Given the description of an element on the screen output the (x, y) to click on. 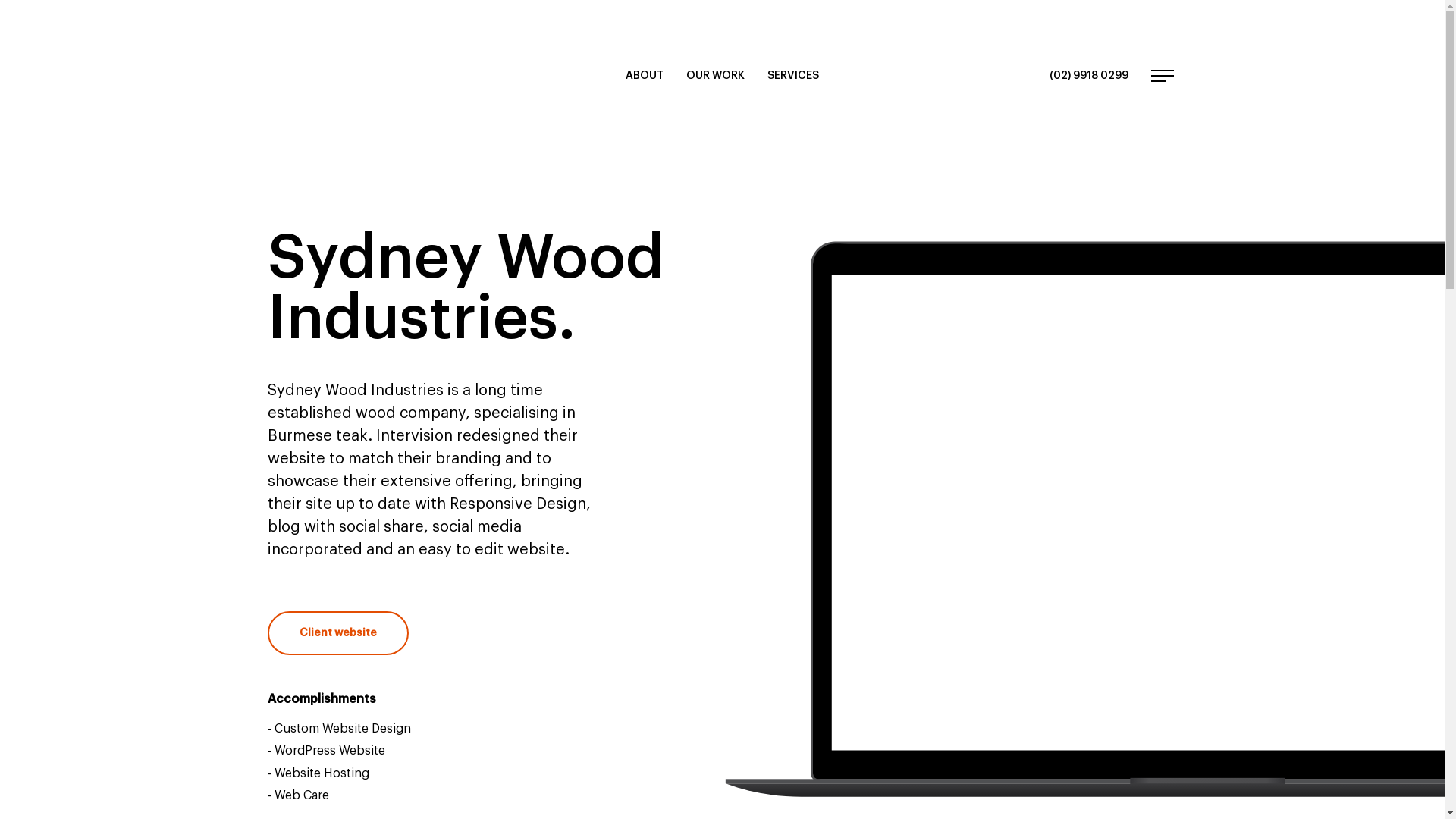
ABOUT Element type: text (644, 75)
Custom Website Design Element type: text (342, 728)
WordPress Website Element type: text (329, 750)
OUR WORK Element type: text (715, 75)
Client website Element type: text (336, 633)
(02) 9918 0299 Element type: text (1088, 75)
Web Care Element type: text (301, 795)
Website Hosting Element type: text (321, 773)
SERVICES Element type: text (793, 75)
